Given the description of an element on the screen output the (x, y) to click on. 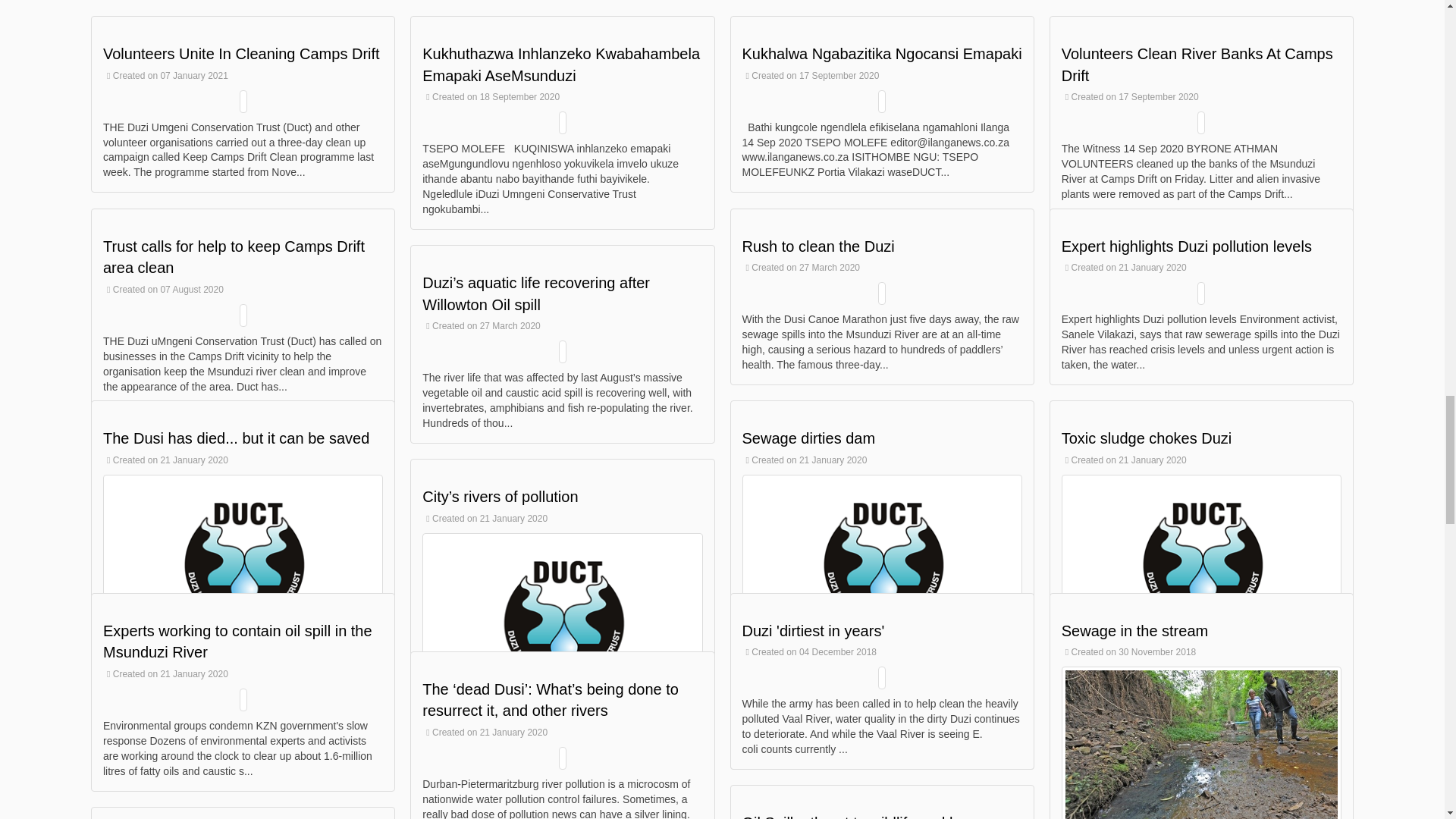
Trust calls for help to keep Camps Drift area clean (234, 257)
Volunteers Unite In Cleaning Camps Drift (241, 53)
Volunteers Clean River Banks At Camps Drift (1197, 64)
Experts working to contain oil spill in the Msunduzi River (237, 641)
Toxic sludge chokes Duzi (1146, 437)
Kukhuthazwa Inhlanzeko Kwabahambela Emapaki AseMsunduzi (561, 64)
Rush to clean the Duzi (817, 246)
Kukhalwa Ngabazitika Ngocansi Emapaki (881, 53)
Sewage dirties dam (808, 437)
Expert highlights Duzi pollution levels (1186, 246)
The Dusi has died... but it can be saved (236, 437)
